Given the description of an element on the screen output the (x, y) to click on. 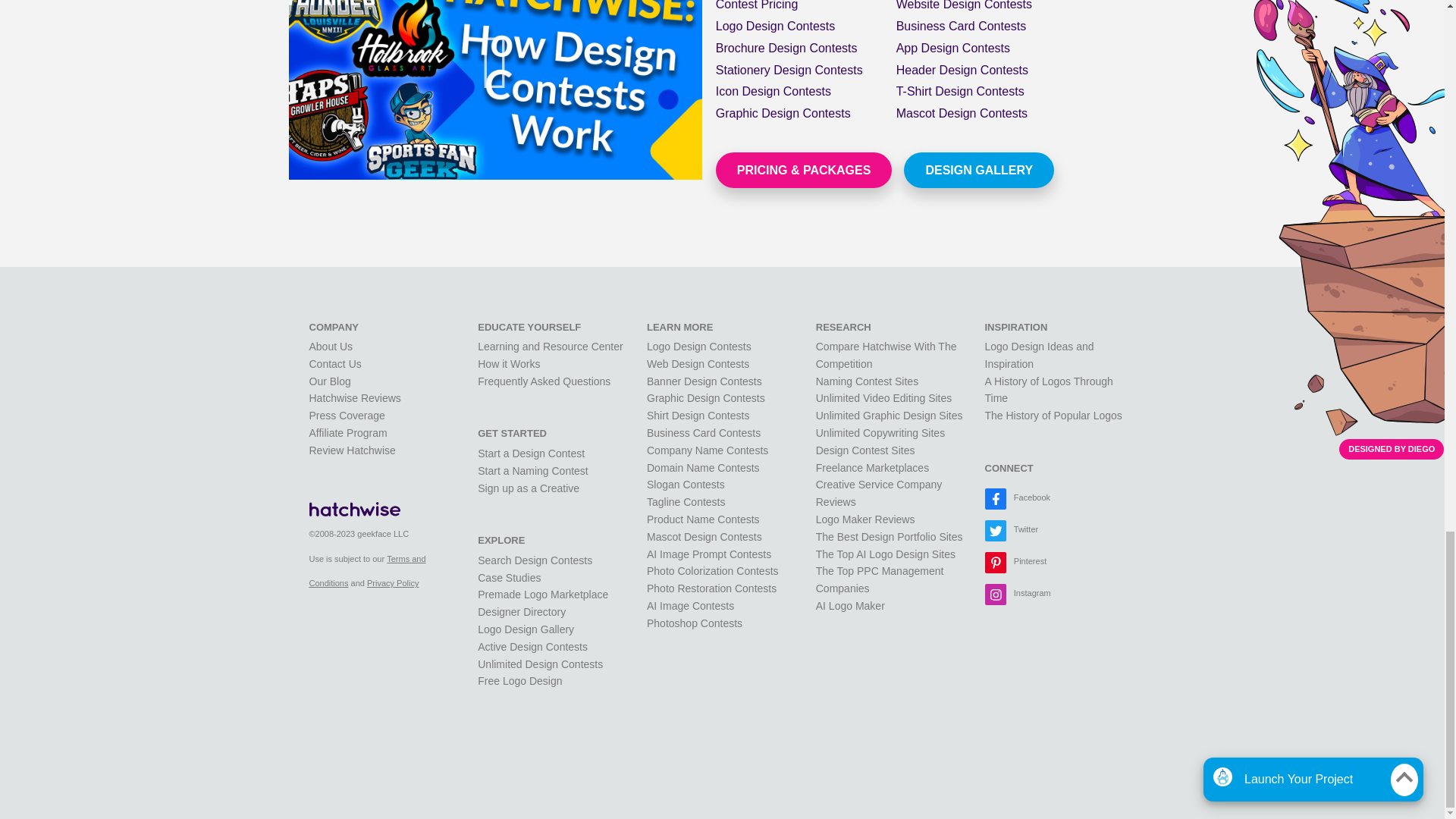
Graphic Design Contests (783, 113)
Brochure Design Contests (786, 47)
App Design Contests (953, 47)
Logo Design Contests (775, 25)
Contest Pricing (756, 5)
Stationery Design Contests (789, 69)
Icon Design Contests (773, 91)
Website Design Contests (964, 5)
Header Design Contests (961, 69)
Business Card Contests (961, 25)
